Given the description of an element on the screen output the (x, y) to click on. 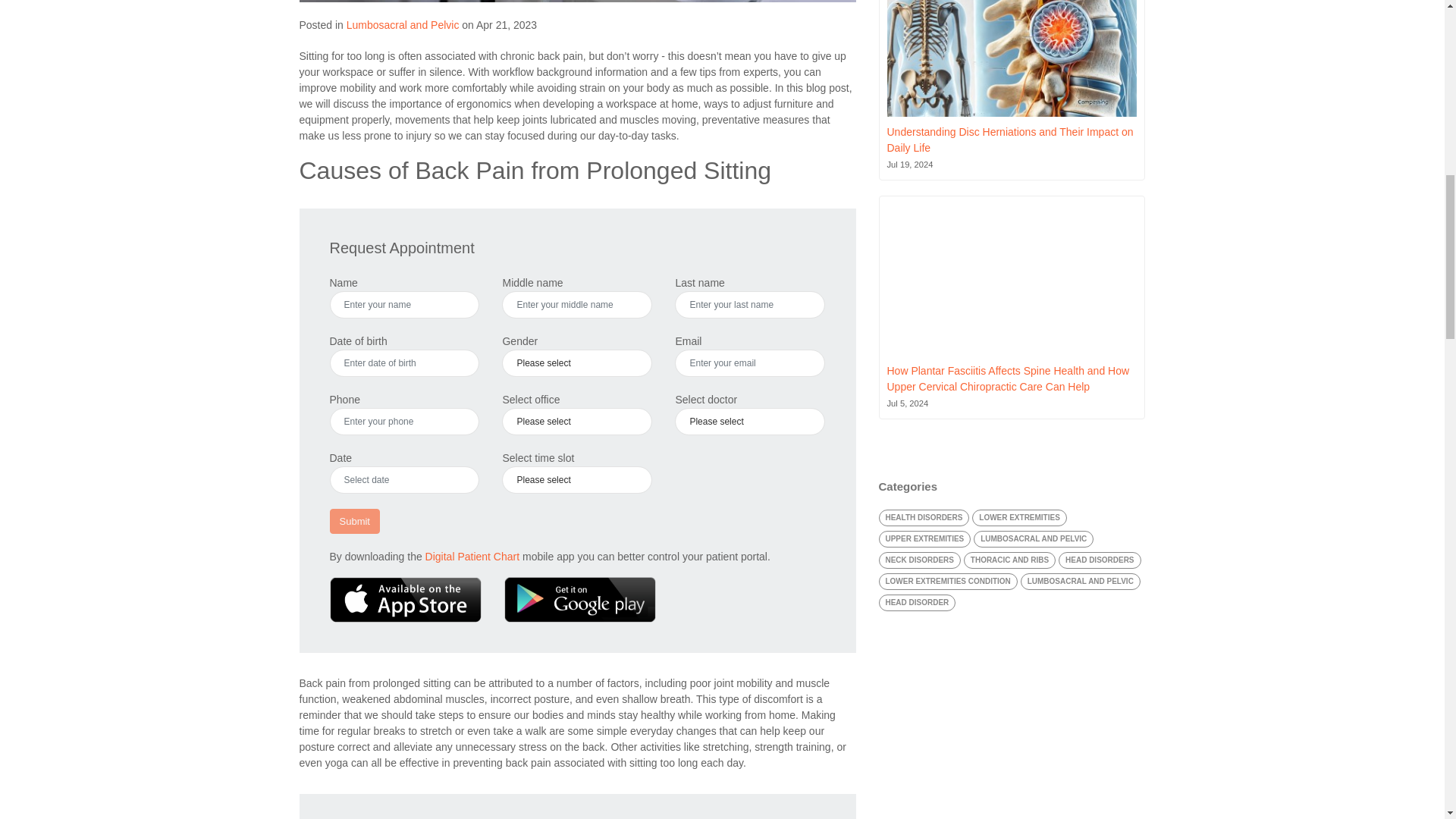
Submit (353, 521)
HEALTH DISORDERS (923, 517)
Lumbosacral and Pelvic (403, 24)
LUMBOSACRAL AND PELVIC (1033, 538)
LOWER EXTREMITIES CONDITION (946, 581)
THORACIC AND RIBS (1009, 560)
UPPER EXTREMITIES (924, 538)
